Given the description of an element on the screen output the (x, y) to click on. 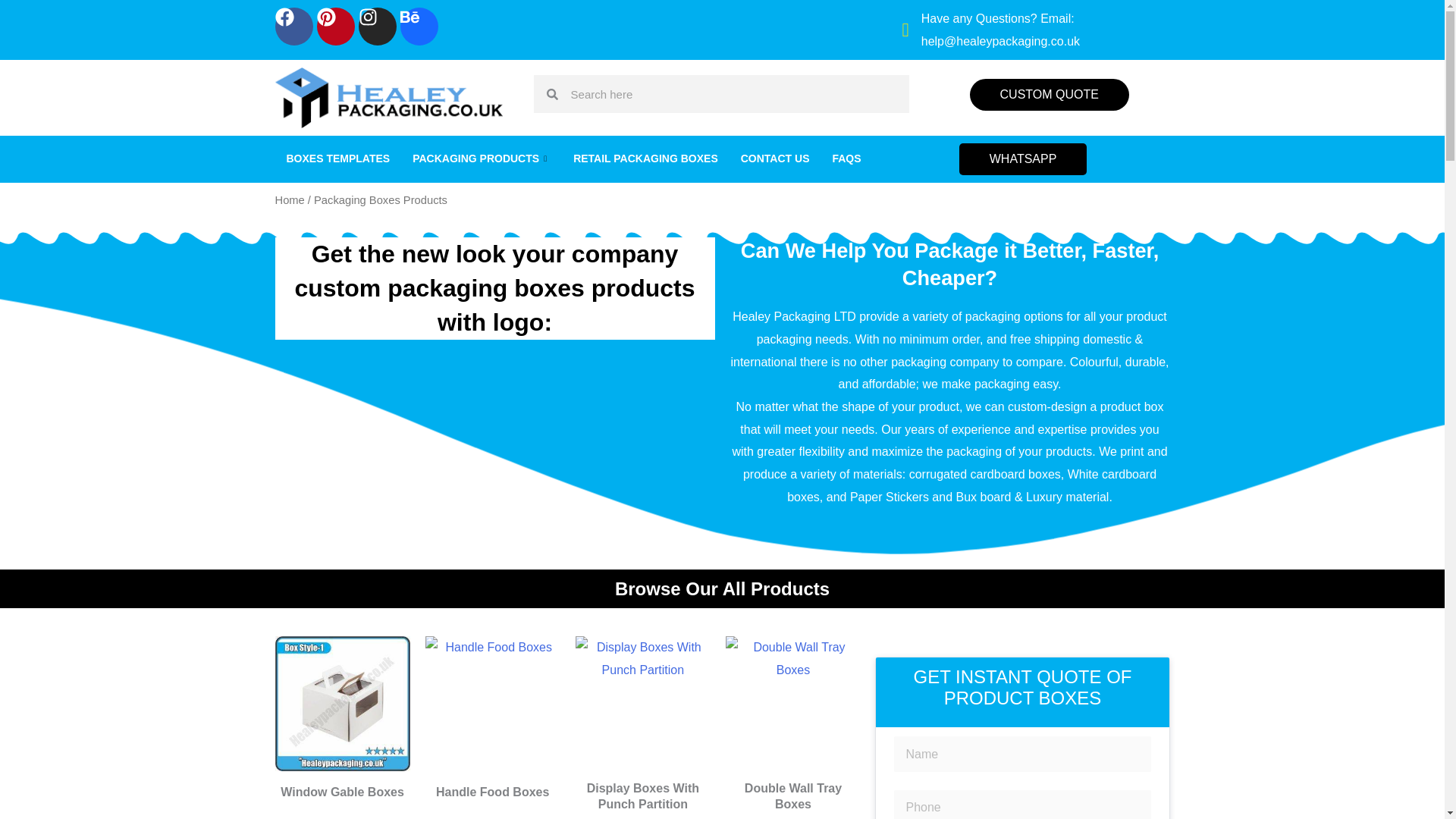
Facebook (294, 26)
Instagram (377, 26)
Pinterest (336, 26)
Packaging Boxes Products (342, 703)
Packaging Boxes Products (492, 703)
Behance (419, 26)
Packaging Boxes Products (792, 703)
Packaging Boxes Products (642, 703)
PACKAGING PRODUCTS (481, 158)
BOXES TEMPLATES (338, 158)
CUSTOM QUOTE (1049, 94)
